Given the description of an element on the screen output the (x, y) to click on. 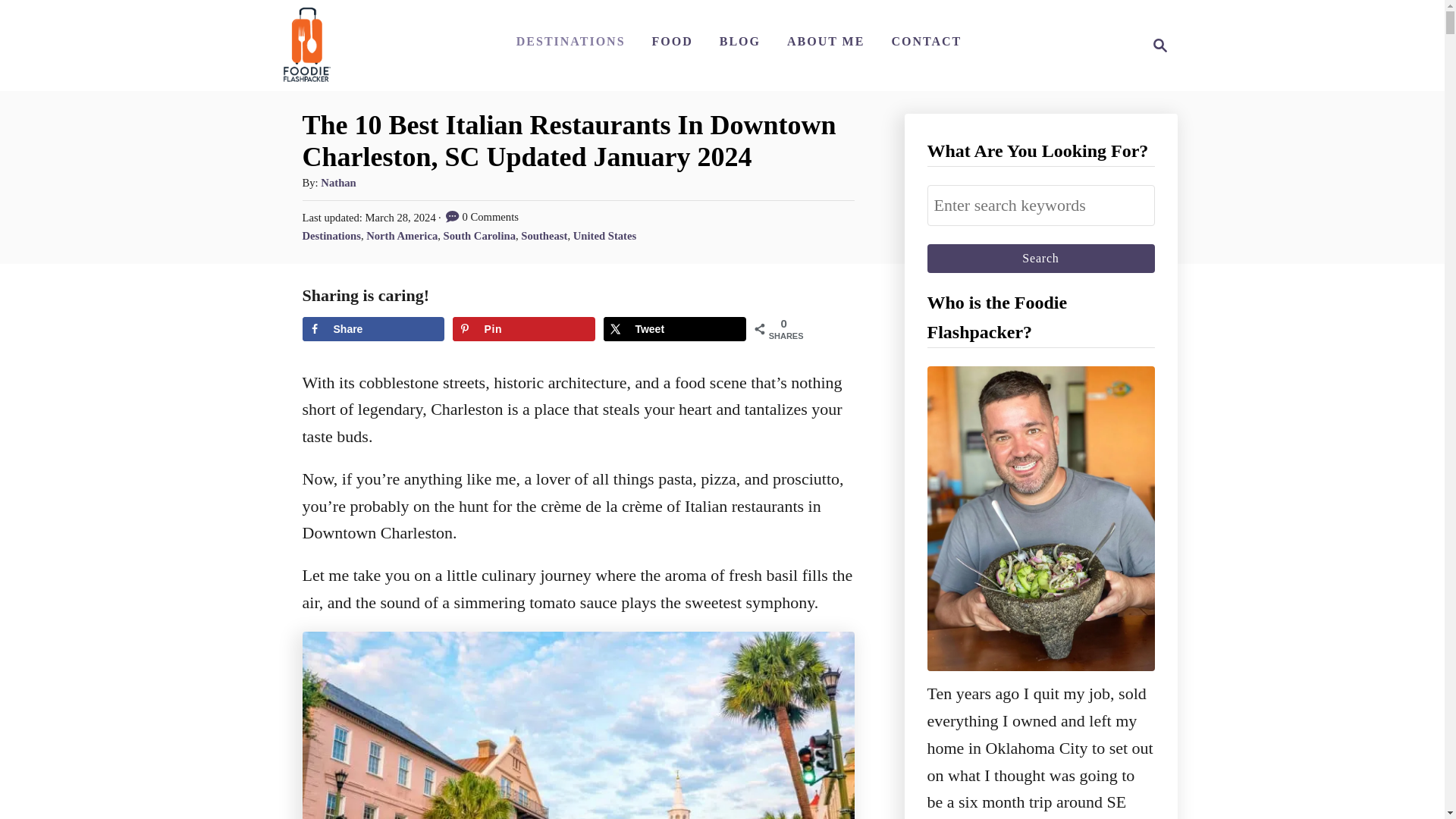
Search (1040, 258)
Save to Pinterest (523, 328)
Search for: (1040, 205)
Magnifying Glass (1155, 45)
Share on Facebook (1160, 45)
Search (372, 328)
DESTINATIONS (1040, 258)
Share on X (570, 41)
Foodie Flashpacker (674, 328)
